Given the description of an element on the screen output the (x, y) to click on. 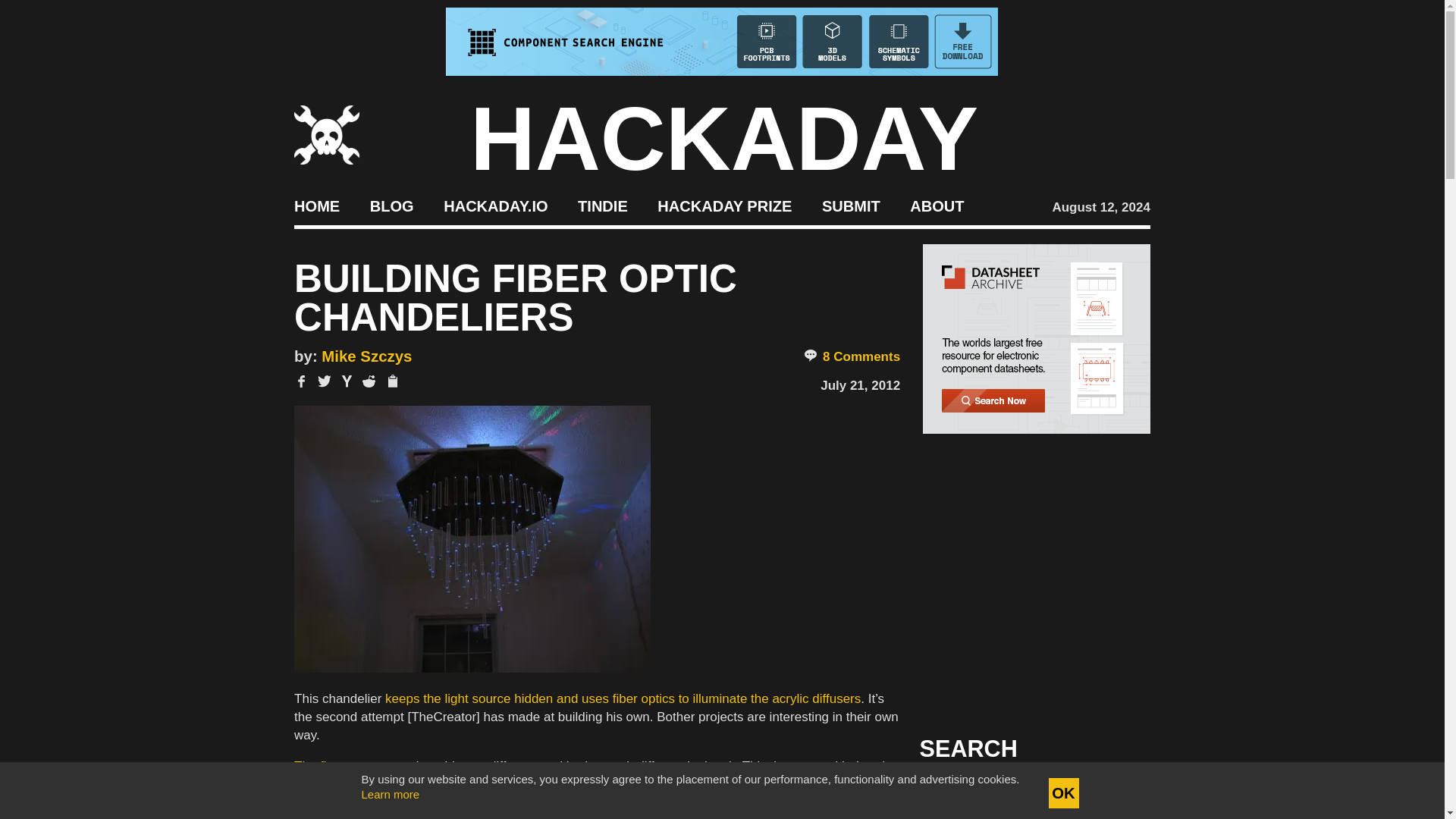
The first attempt (340, 766)
Copy title or shortlink (391, 381)
Share on Twitter (324, 381)
Build Something that Matters (725, 205)
BLOG (391, 205)
HACKADAY.IO (495, 205)
Posts by Mike Szczys (366, 356)
ABOUT (936, 205)
HOME (316, 205)
July 21, 2012 - 9:01 am (860, 385)
